Given the description of an element on the screen output the (x, y) to click on. 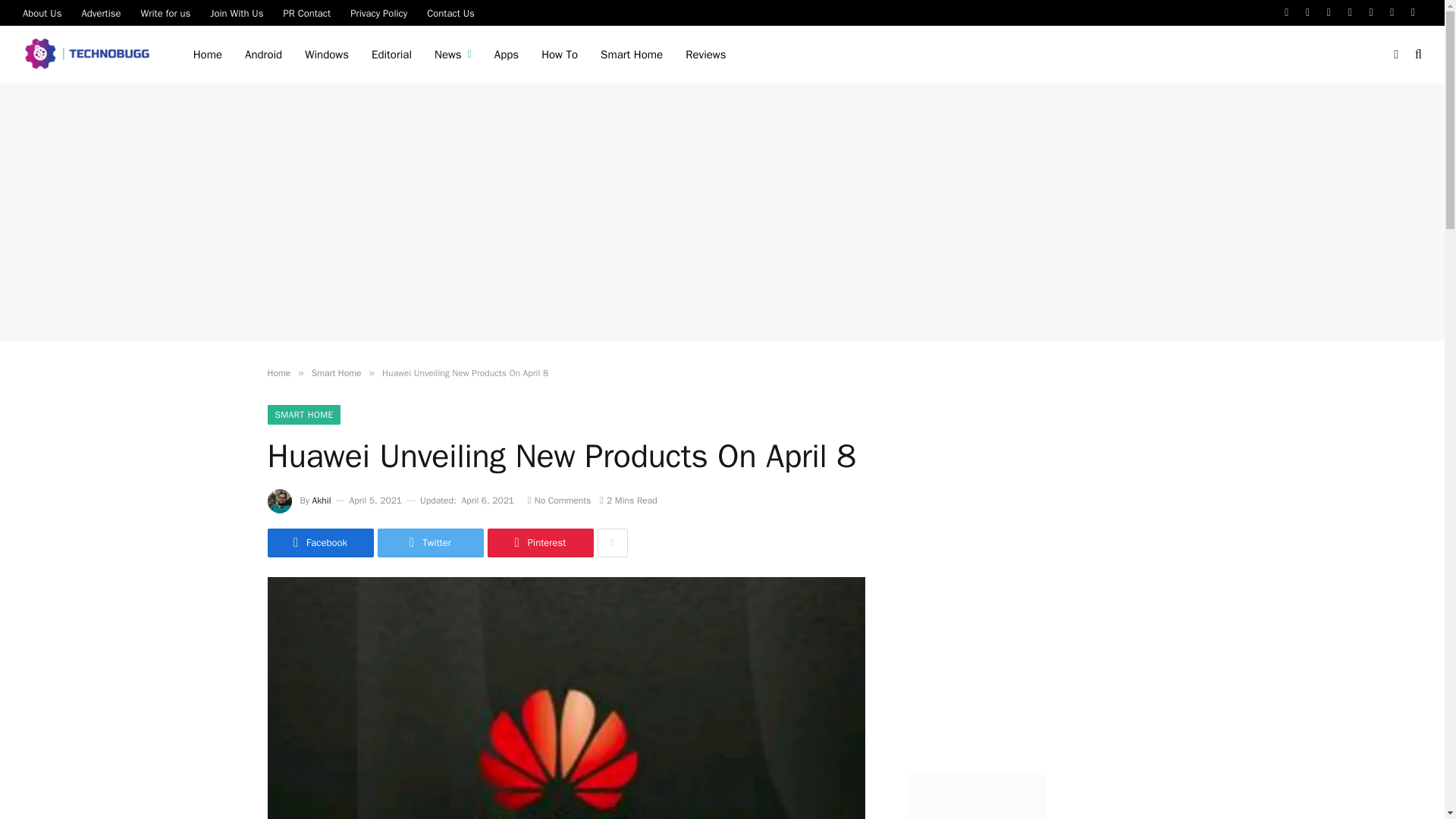
PR Contact (306, 12)
News (453, 54)
Advertise (101, 12)
Reviews (705, 54)
Editorial (391, 54)
Share on Facebook (319, 542)
Home (207, 54)
Android (263, 54)
Join With Us (236, 12)
